Given the description of an element on the screen output the (x, y) to click on. 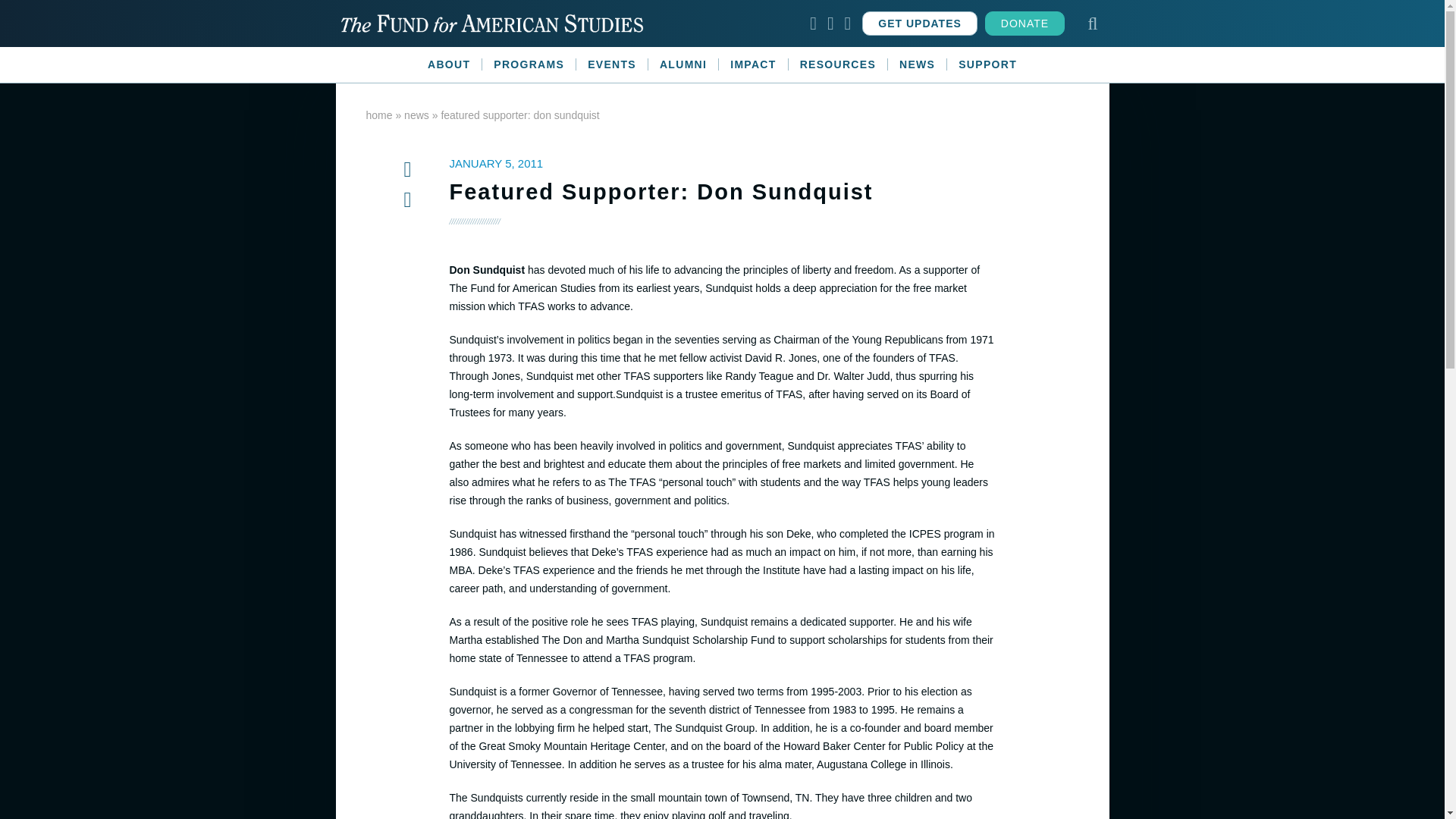
NEWS (917, 64)
IMPACT (753, 64)
Donate (1024, 23)
ABOUT (448, 64)
ALUMNI (683, 64)
Get Updates (918, 23)
news (416, 114)
EVENTS (611, 64)
RESOURCES (838, 64)
Donate (1024, 23)
